Given the description of an element on the screen output the (x, y) to click on. 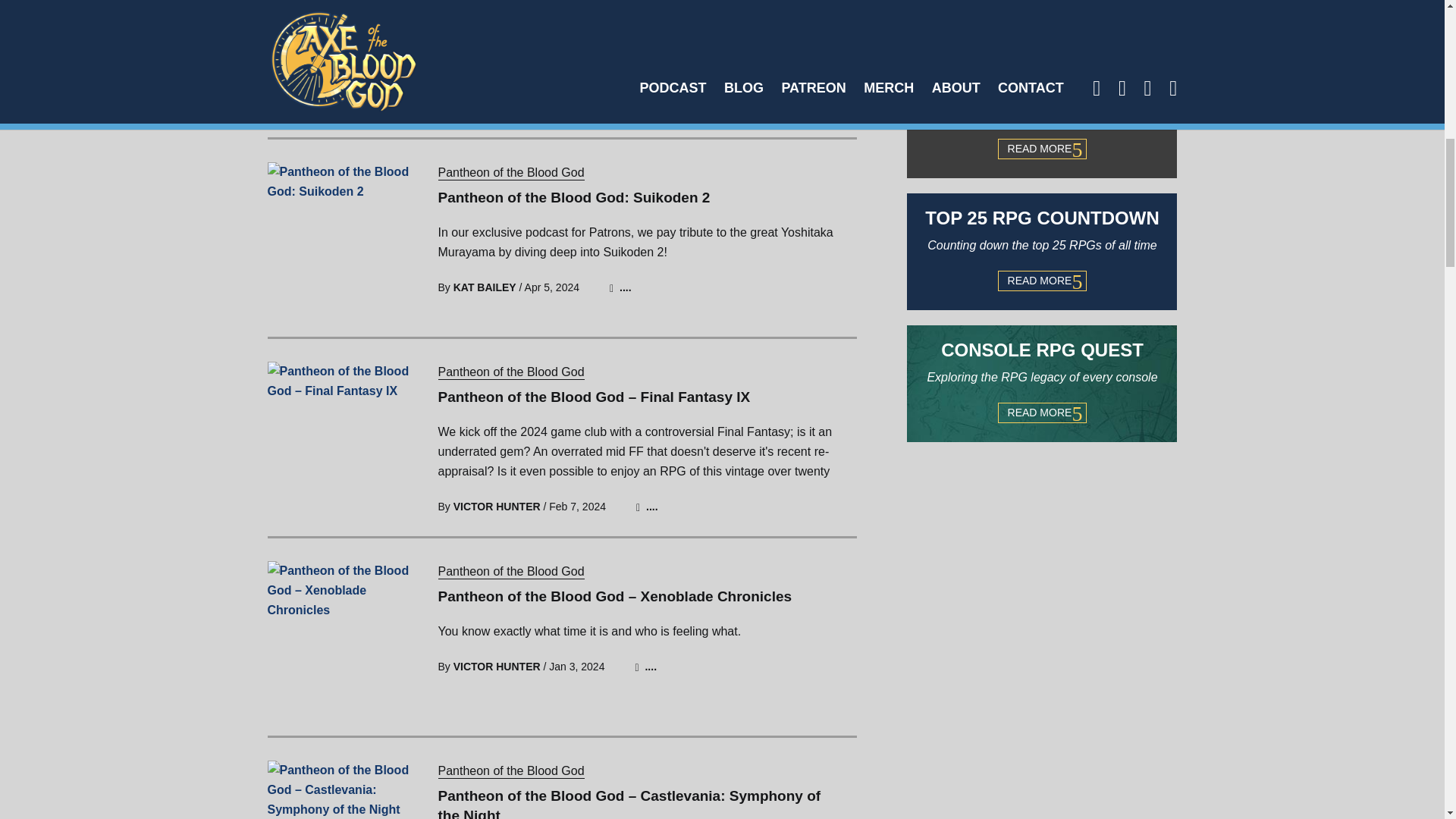
Pantheon of the Blood God (511, 372)
KAT BAILEY (484, 287)
VICTOR HUNTER (496, 666)
Pantheon of the Blood God (511, 173)
VICTOR HUNTER (496, 87)
Pantheon of the Blood God (511, 572)
Pantheon of the Blood God (511, 771)
VICTOR HUNTER (496, 506)
Pantheon of the Blood God (511, 572)
